Given the description of an element on the screen output the (x, y) to click on. 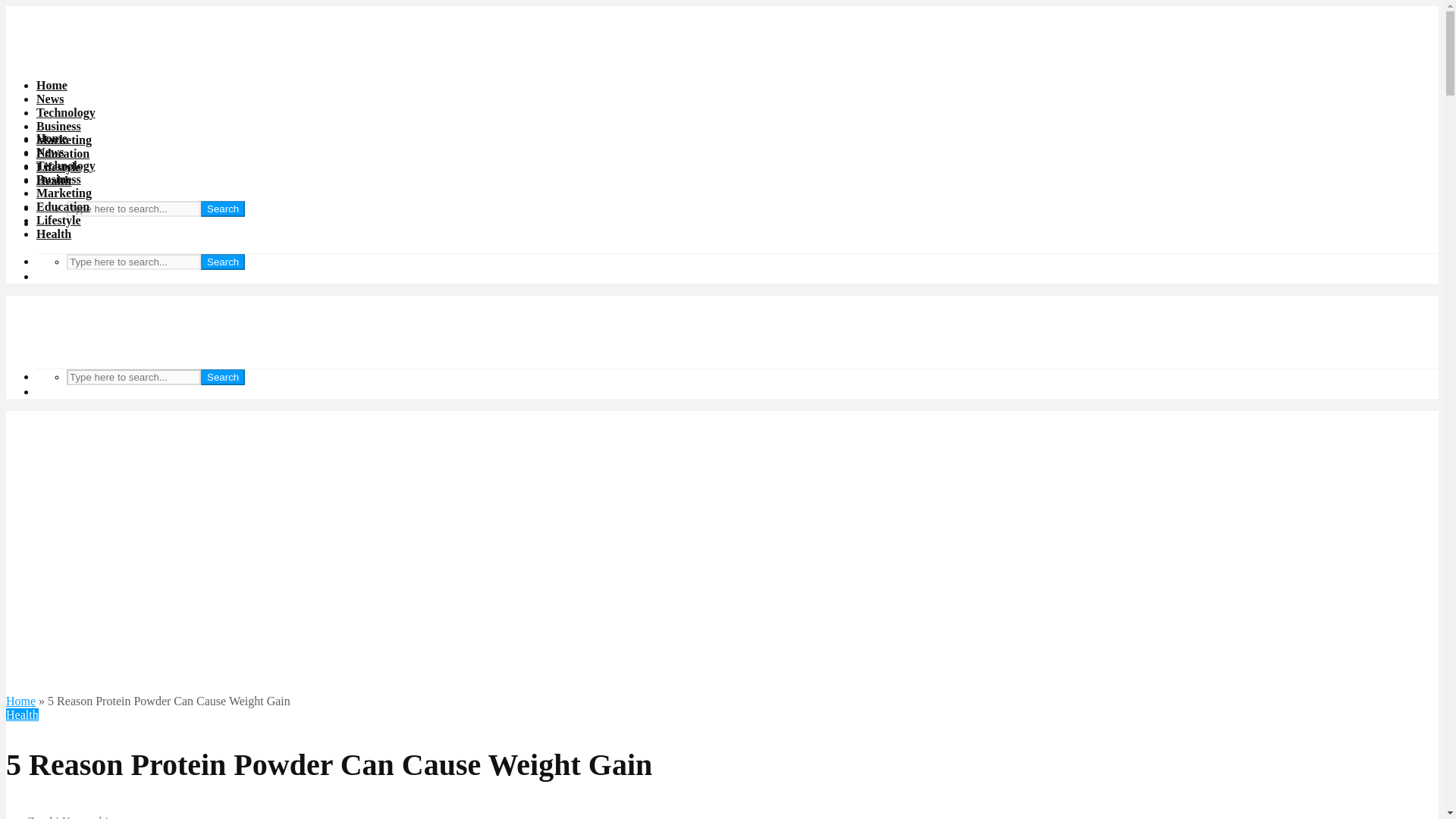
Marketing (63, 139)
Health (53, 180)
Health (22, 714)
Education (62, 153)
Technology (66, 164)
Zaraki Kenpachi (56, 816)
Marketing (63, 192)
News (50, 98)
Education (62, 205)
Home (51, 137)
Business (58, 178)
Search (222, 261)
Health (53, 233)
Home (51, 84)
Search (222, 208)
